Given the description of an element on the screen output the (x, y) to click on. 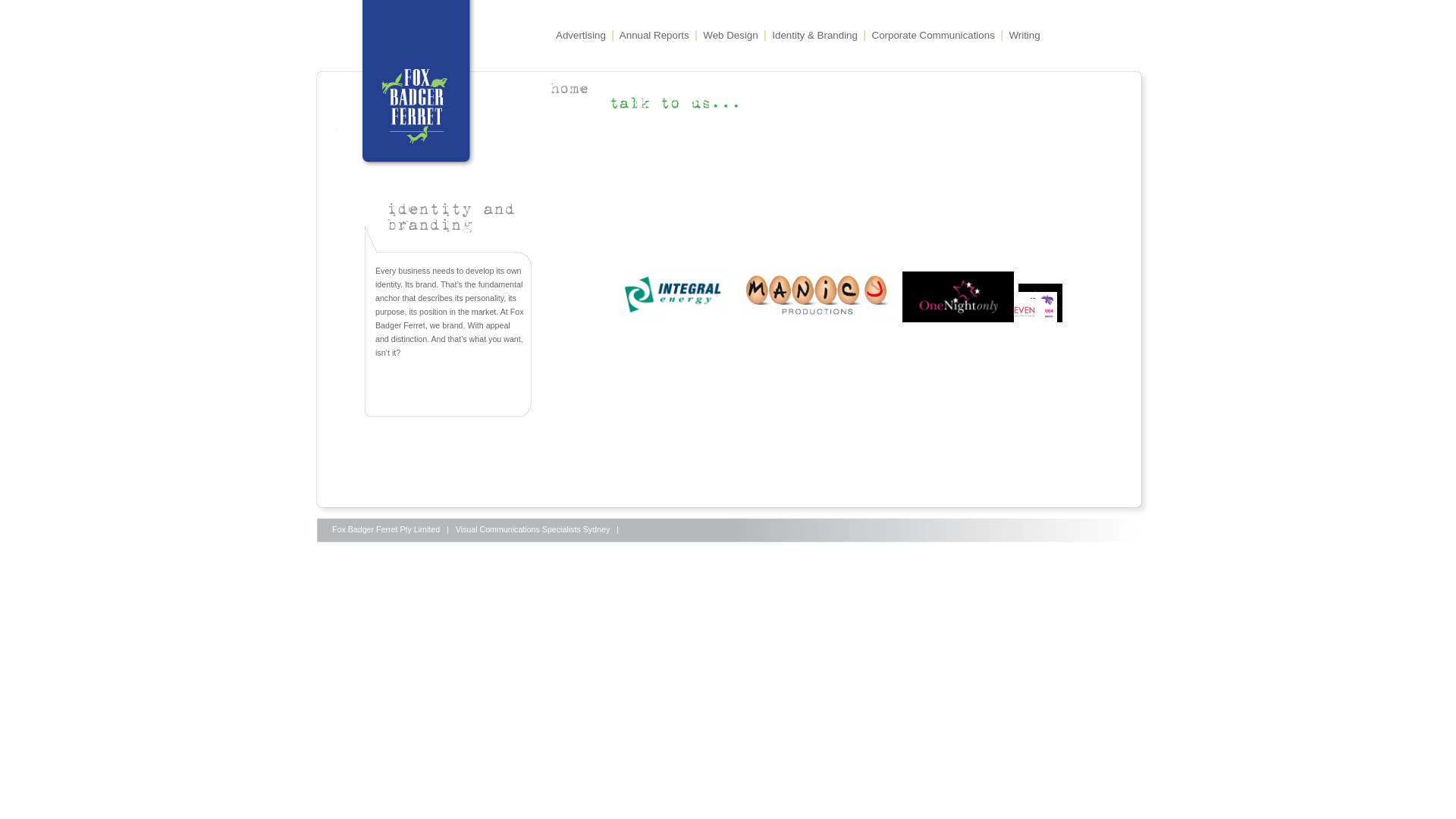
identity20 Element type: hover (957, 296)
identity19 Element type: hover (816, 295)
identity18 Element type: hover (674, 295)
identity21 Element type: hover (1006, 310)
Annual Reports Element type: text (654, 34)
Identity & Branding Element type: text (814, 34)
identity01 Element type: hover (1029, 306)
Advertising Element type: text (580, 34)
Corporate Communications Element type: text (933, 34)
identity02 Element type: hover (1040, 302)
Writing Element type: text (1023, 34)
Web Design Element type: text (729, 34)
